Given the description of an element on the screen output the (x, y) to click on. 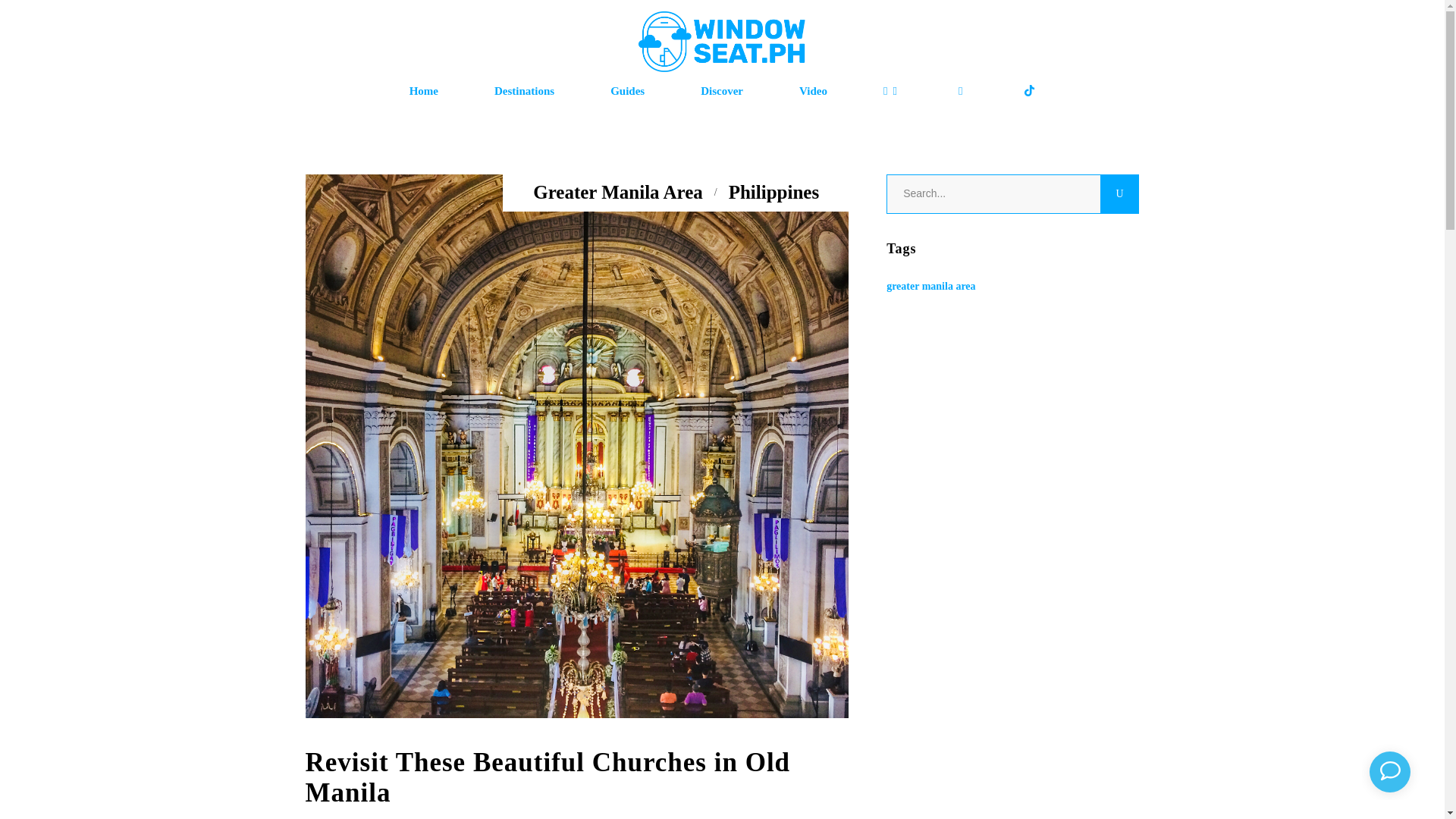
Home (423, 90)
Guides (627, 90)
Search for: (993, 193)
Chatbot (1395, 771)
Destinations (523, 90)
Discover (721, 90)
Video (813, 90)
